Given the description of an element on the screen output the (x, y) to click on. 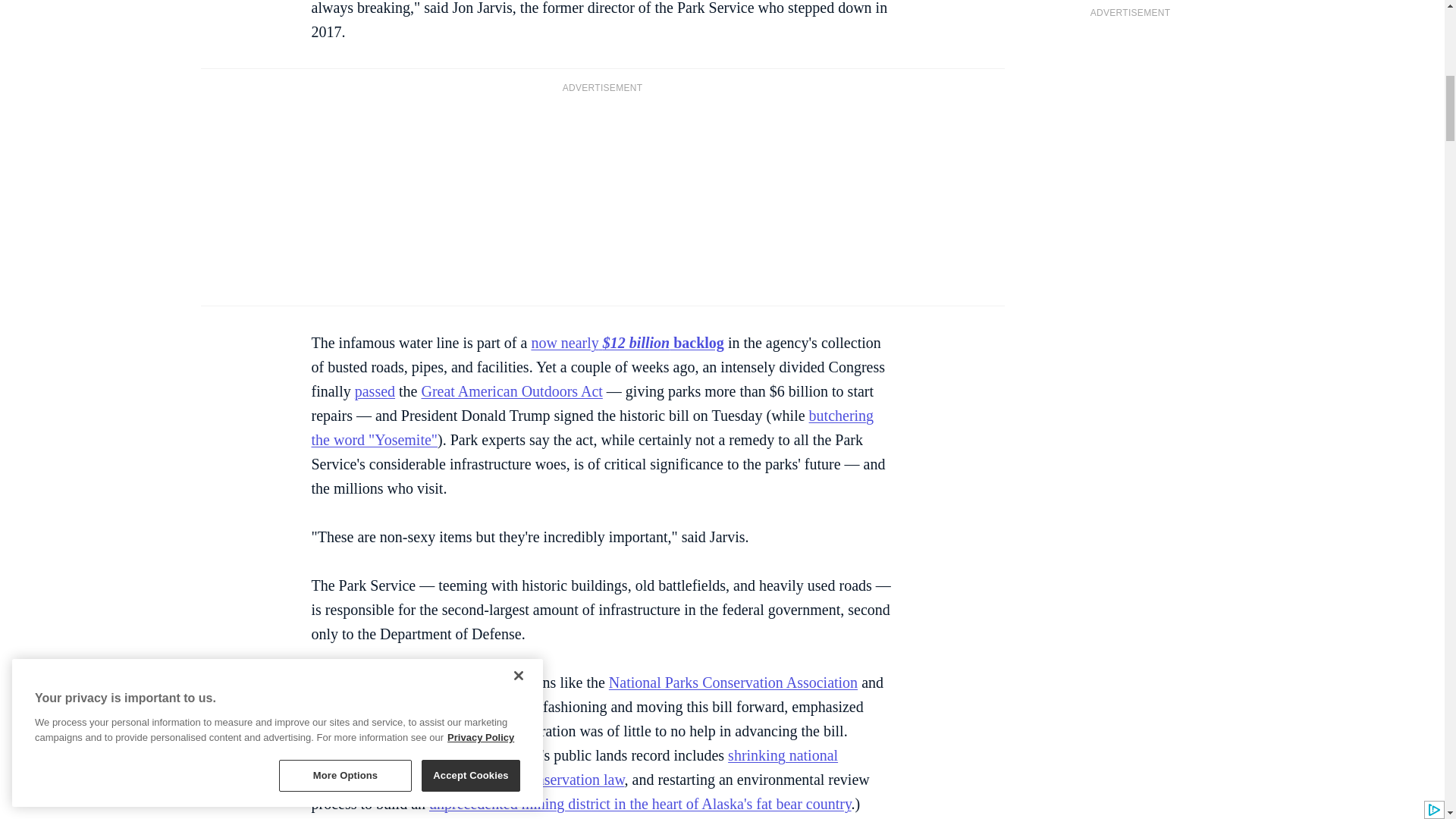
3rd party ad content (601, 197)
